Given the description of an element on the screen output the (x, y) to click on. 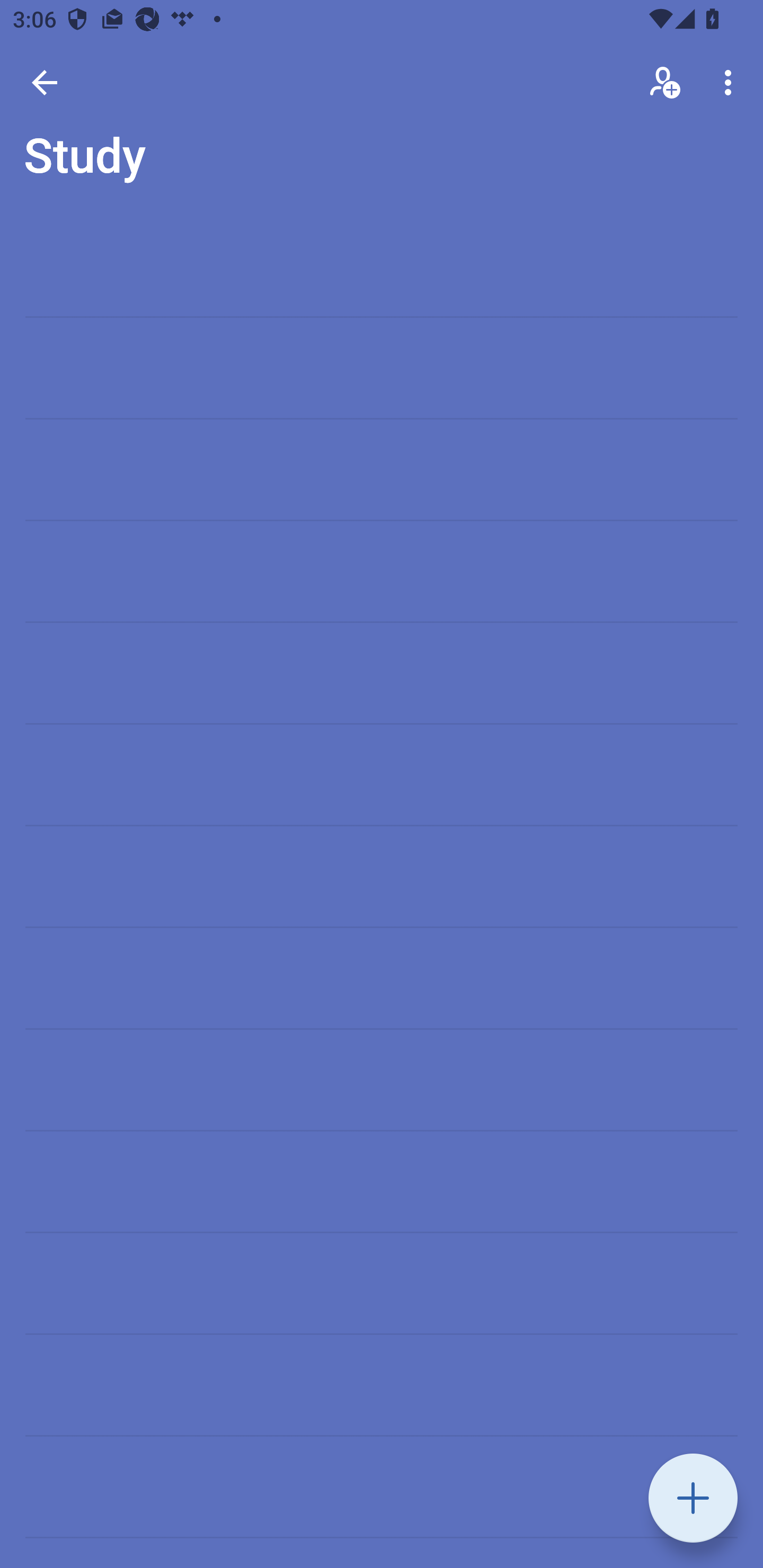
Back (44, 82)
